Given the description of an element on the screen output the (x, y) to click on. 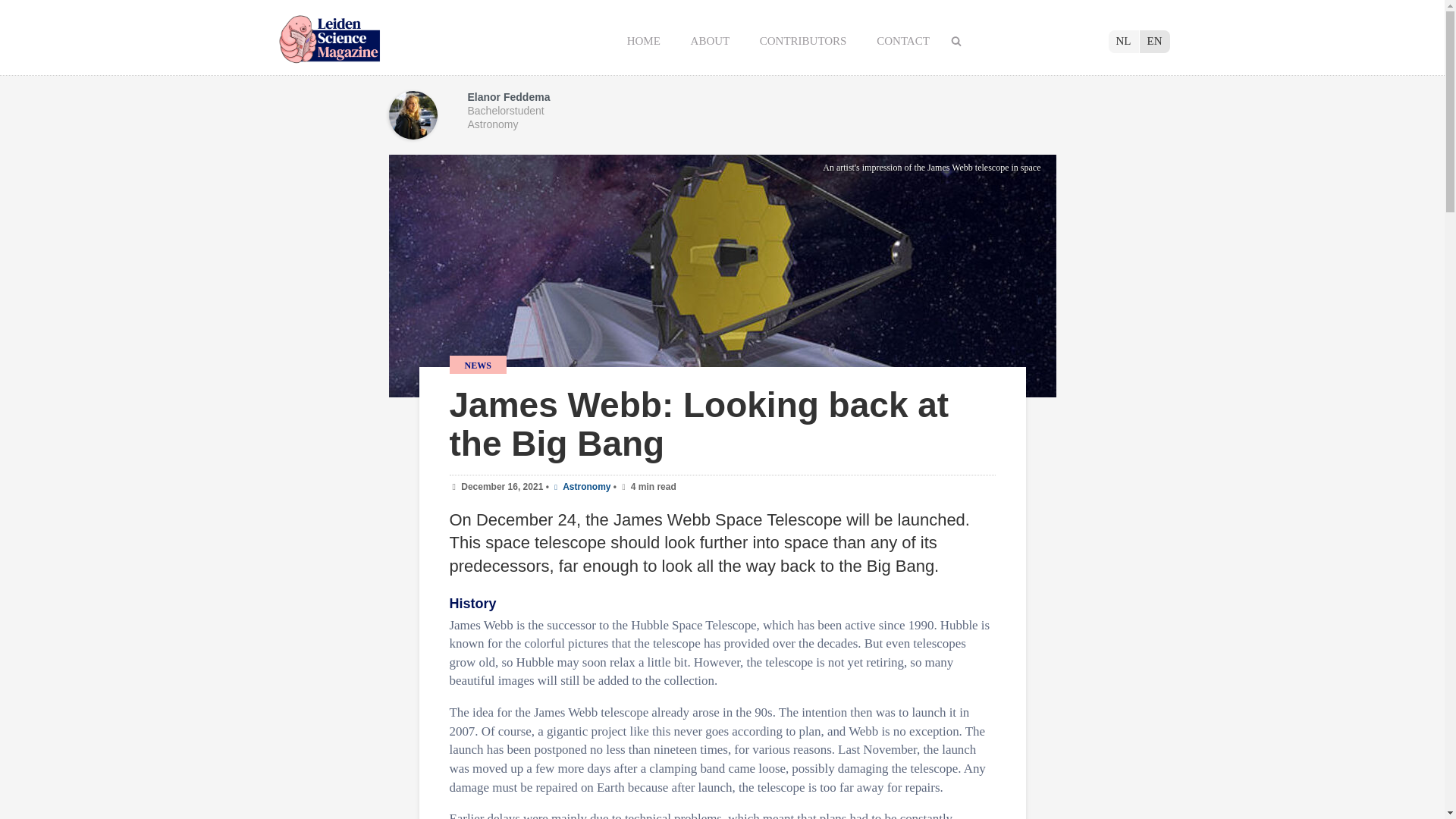
NL (1124, 41)
ABOUT (711, 40)
EN (1153, 41)
HOME (644, 40)
CONTRIBUTORS (804, 40)
Astronomy (580, 486)
CONTACT (903, 40)
